Given the description of an element on the screen output the (x, y) to click on. 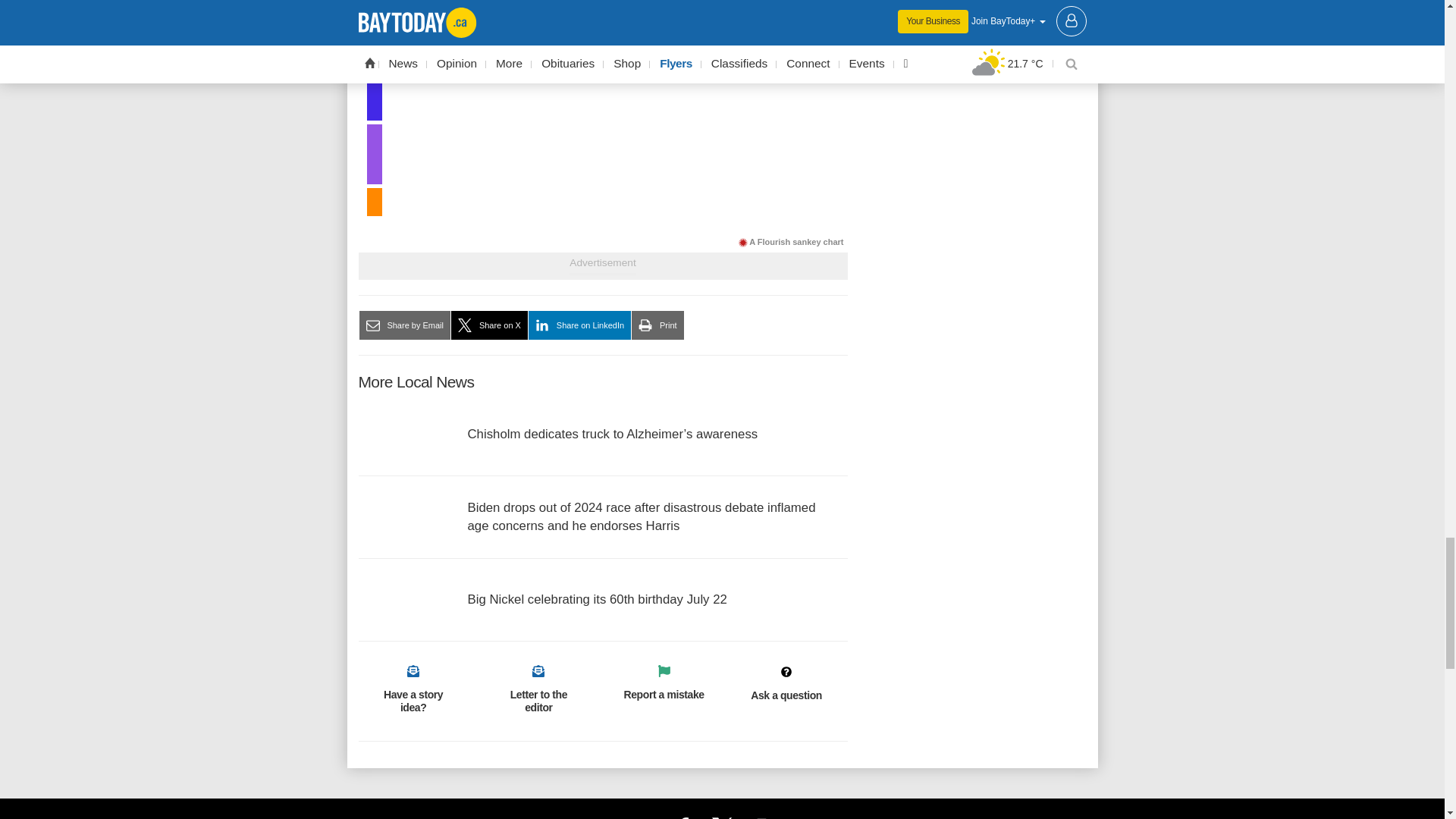
Interactive or visual content (602, 115)
